Given the description of an element on the screen output the (x, y) to click on. 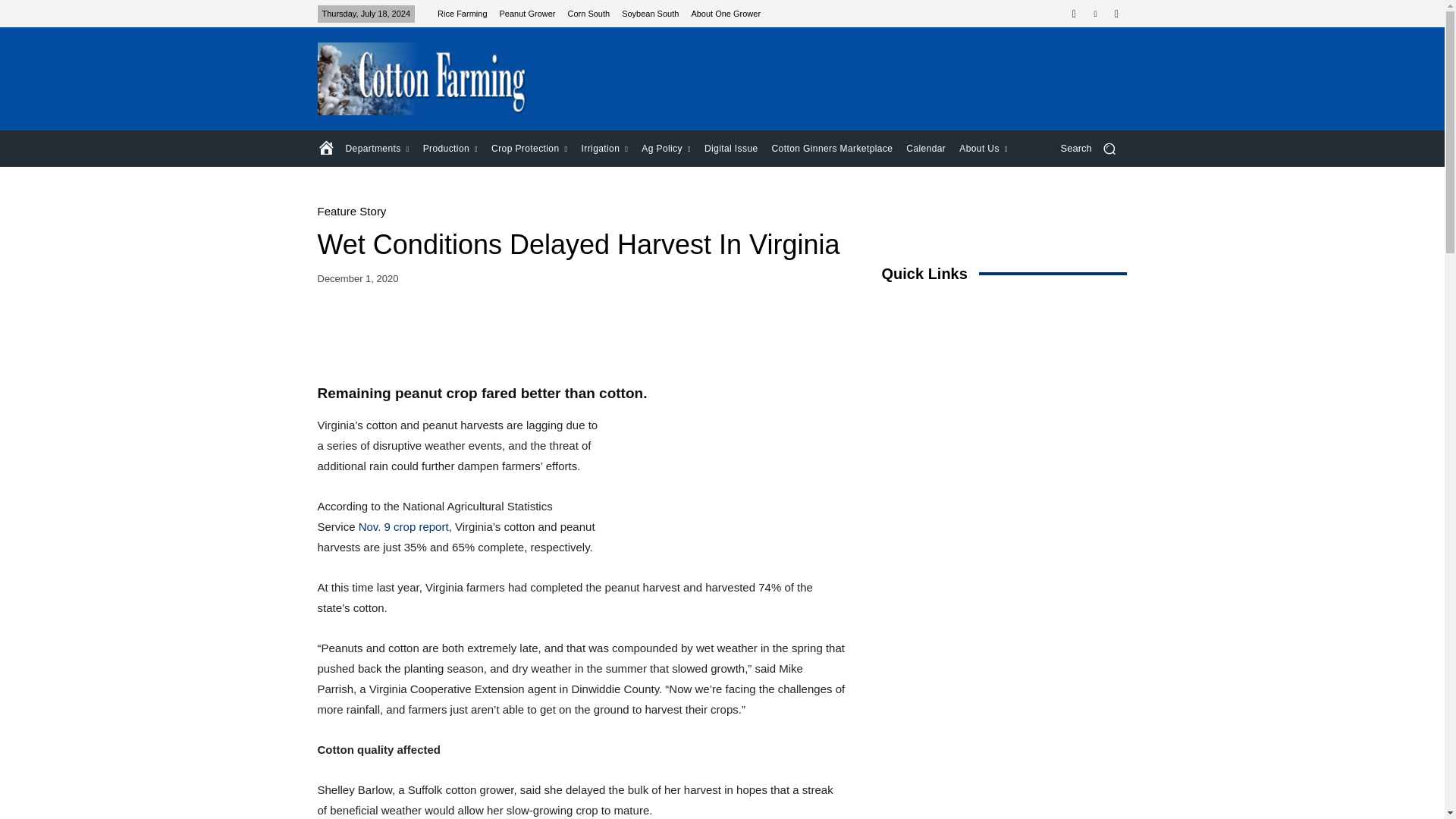
Facebook (1073, 13)
Twitter (1094, 13)
Cotton Farming Header Logo (425, 78)
Rss (1115, 13)
